Given the description of an element on the screen output the (x, y) to click on. 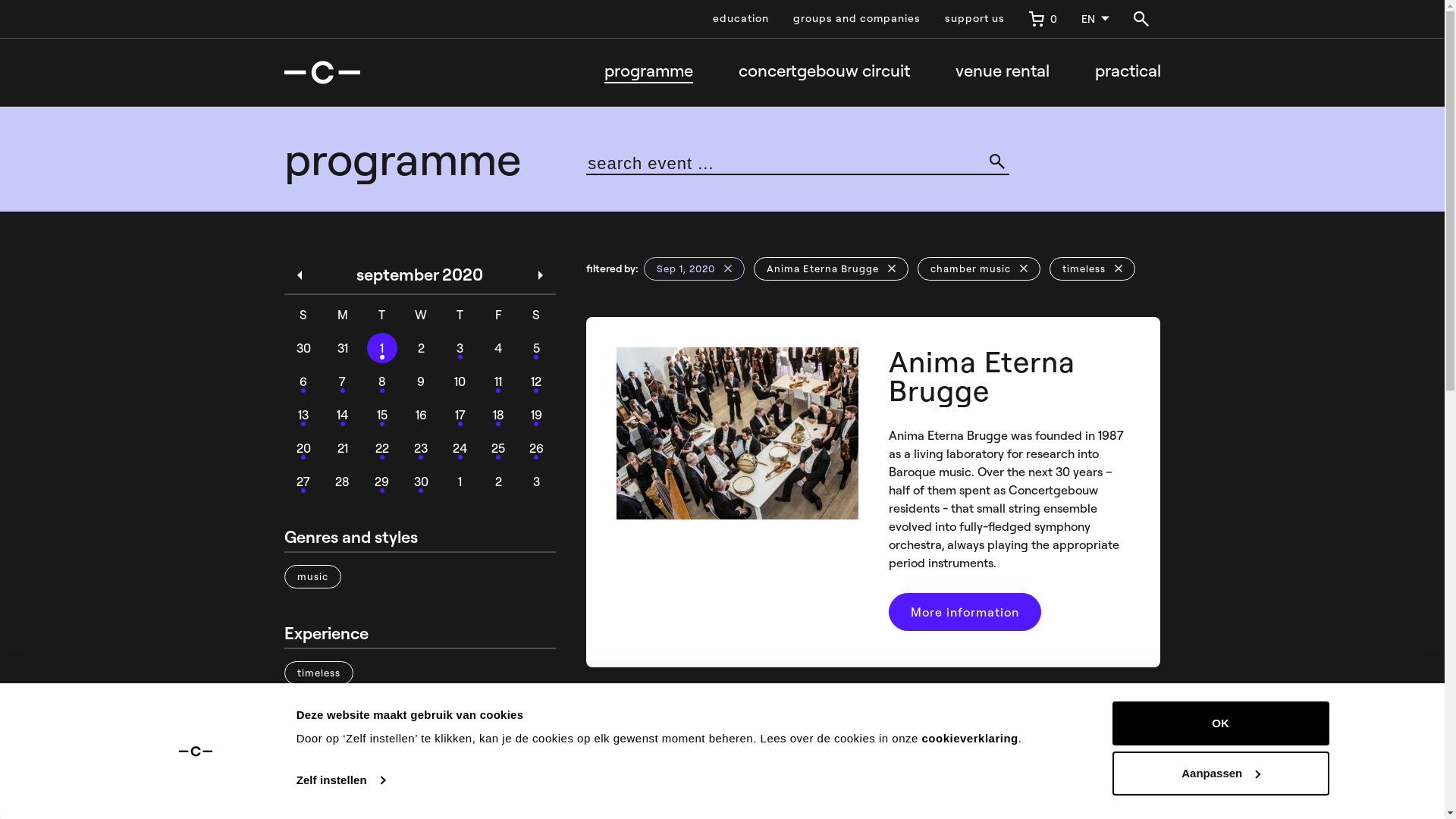
cookieverklaring Element type: text (970, 737)
chamber music Element type: text (978, 266)
Go to the main content Element type: text (33, 31)
concertgebouw circuit Element type: text (824, 71)
Go to filtering Element type: text (32, 23)
programme Element type: text (647, 71)
timeless Element type: text (1092, 266)
practical Element type: text (1128, 71)
Anima Eterna Brugge Element type: text (830, 266)
support us Element type: text (974, 18)
music Element type: text (311, 574)
education Element type: text (740, 18)
EN Element type: text (1095, 18)
0 Element type: text (1042, 18)
Aanpassen Element type: text (1219, 772)
groups and companies Element type: text (856, 18)
Go to search results Element type: text (30, 31)
Sep 1, 2020 Element type: text (693, 266)
timeless Element type: text (317, 671)
OK Element type: text (1219, 723)
venue rental Element type: text (1002, 71)
Zelf instellen Element type: text (340, 779)
